Given the description of an element on the screen output the (x, y) to click on. 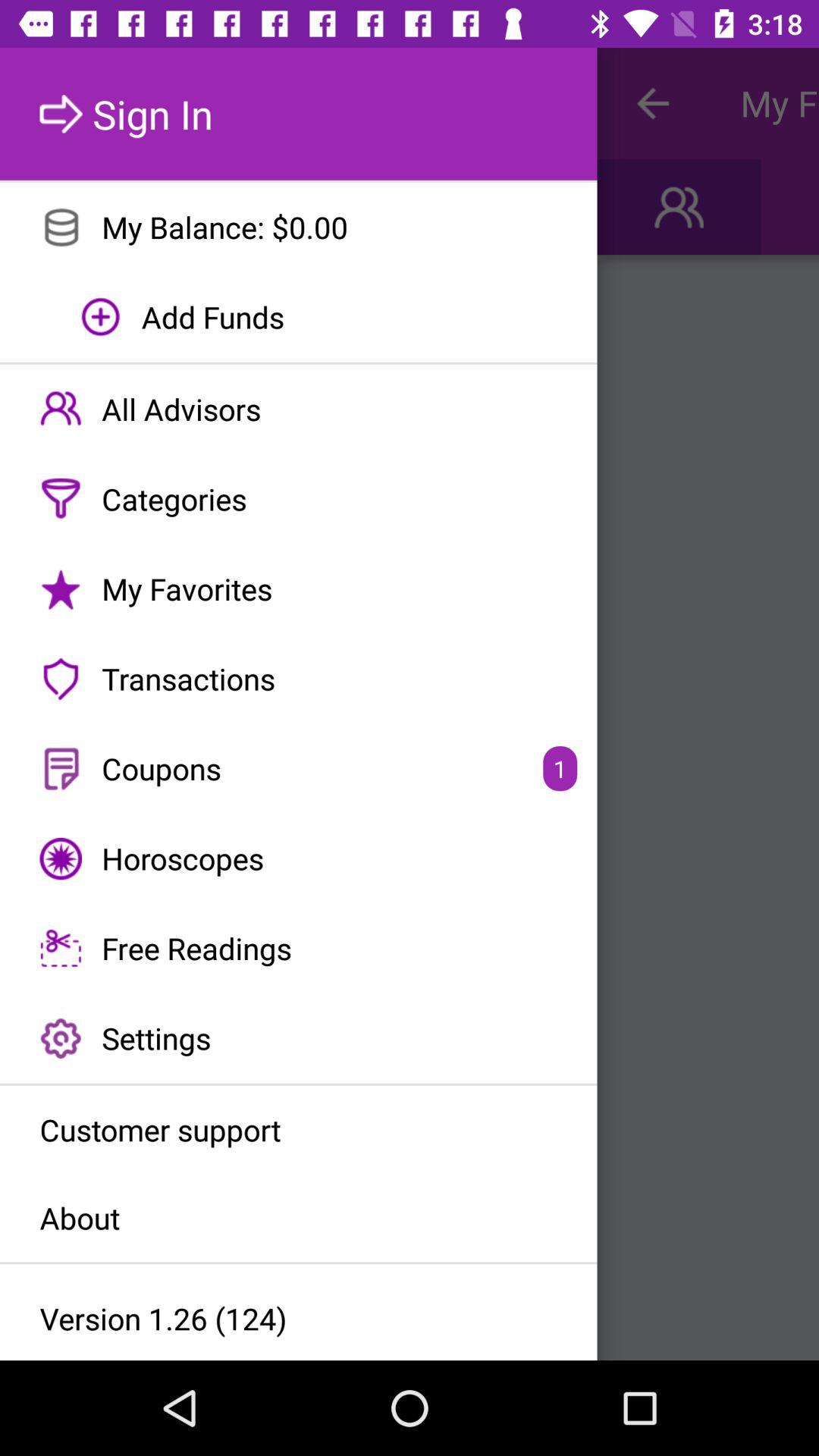
tap item above the settings item (298, 948)
